Given the description of an element on the screen output the (x, y) to click on. 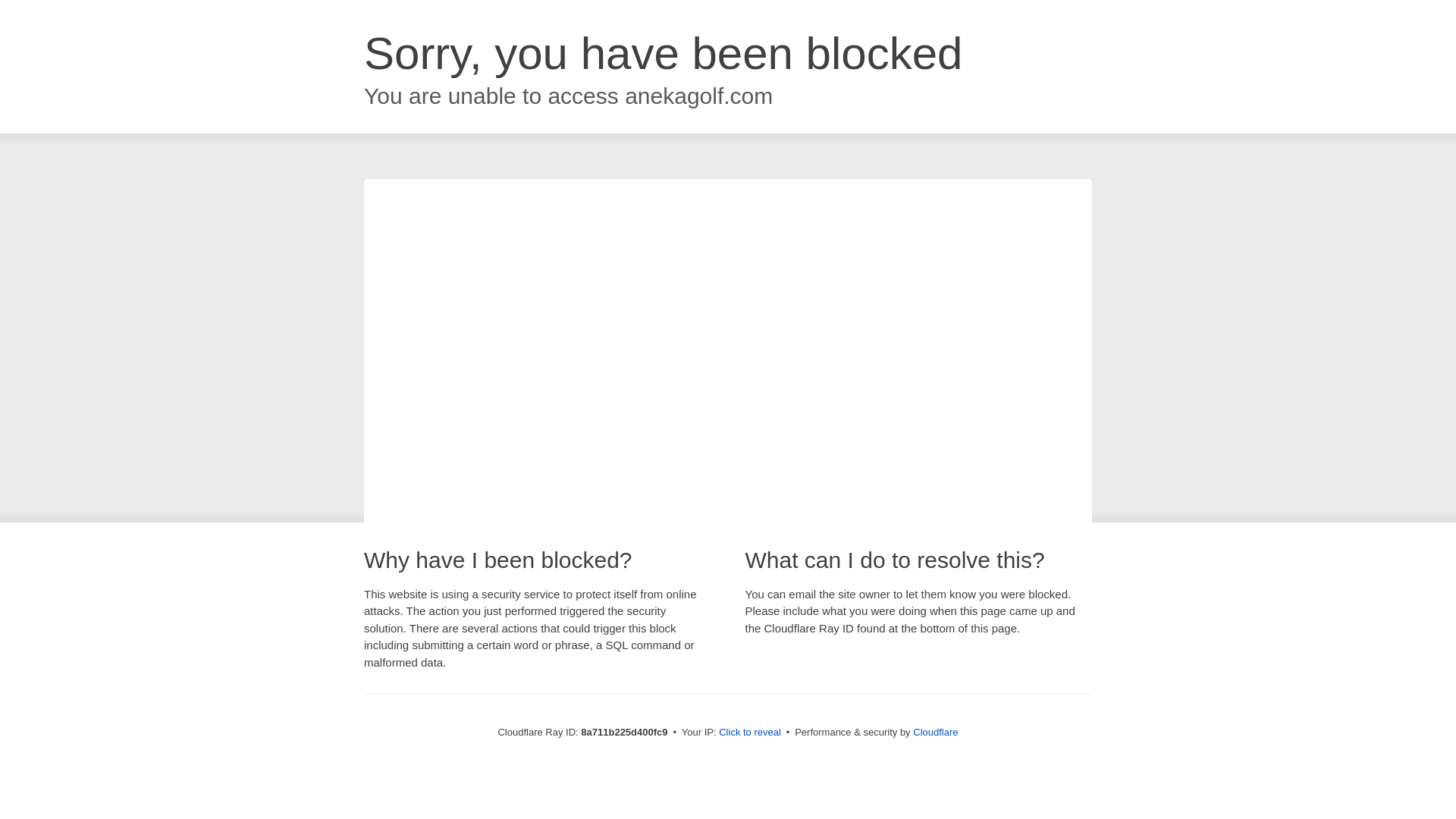
Cloudflare (935, 731)
Click to reveal (749, 732)
